Given the description of an element on the screen output the (x, y) to click on. 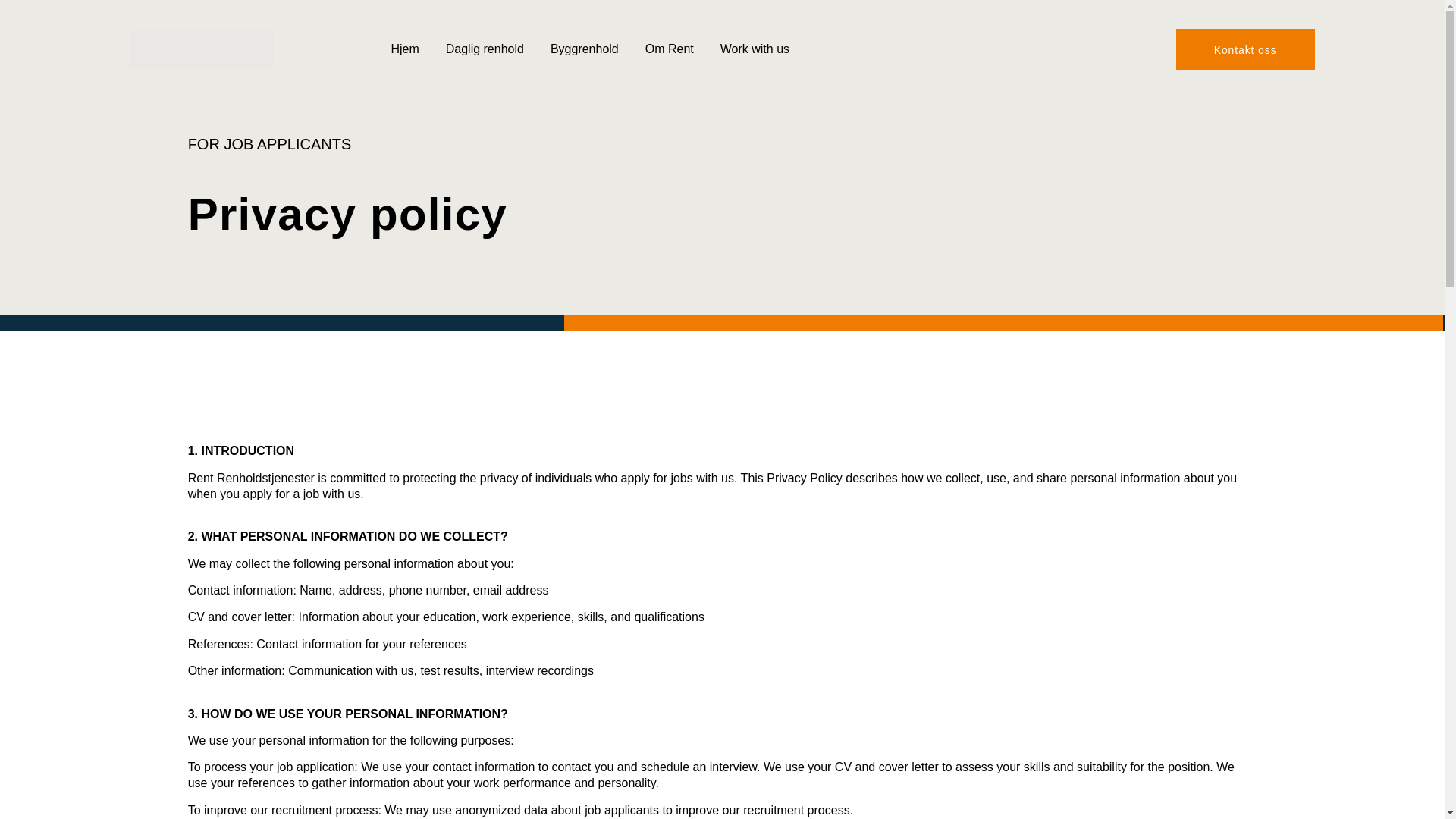
Work with us (754, 48)
Byggrenhold (584, 48)
Hjem (404, 48)
Daglig renhold (484, 48)
Om Rent (669, 48)
Kontakt oss (1245, 48)
